Given the description of an element on the screen output the (x, y) to click on. 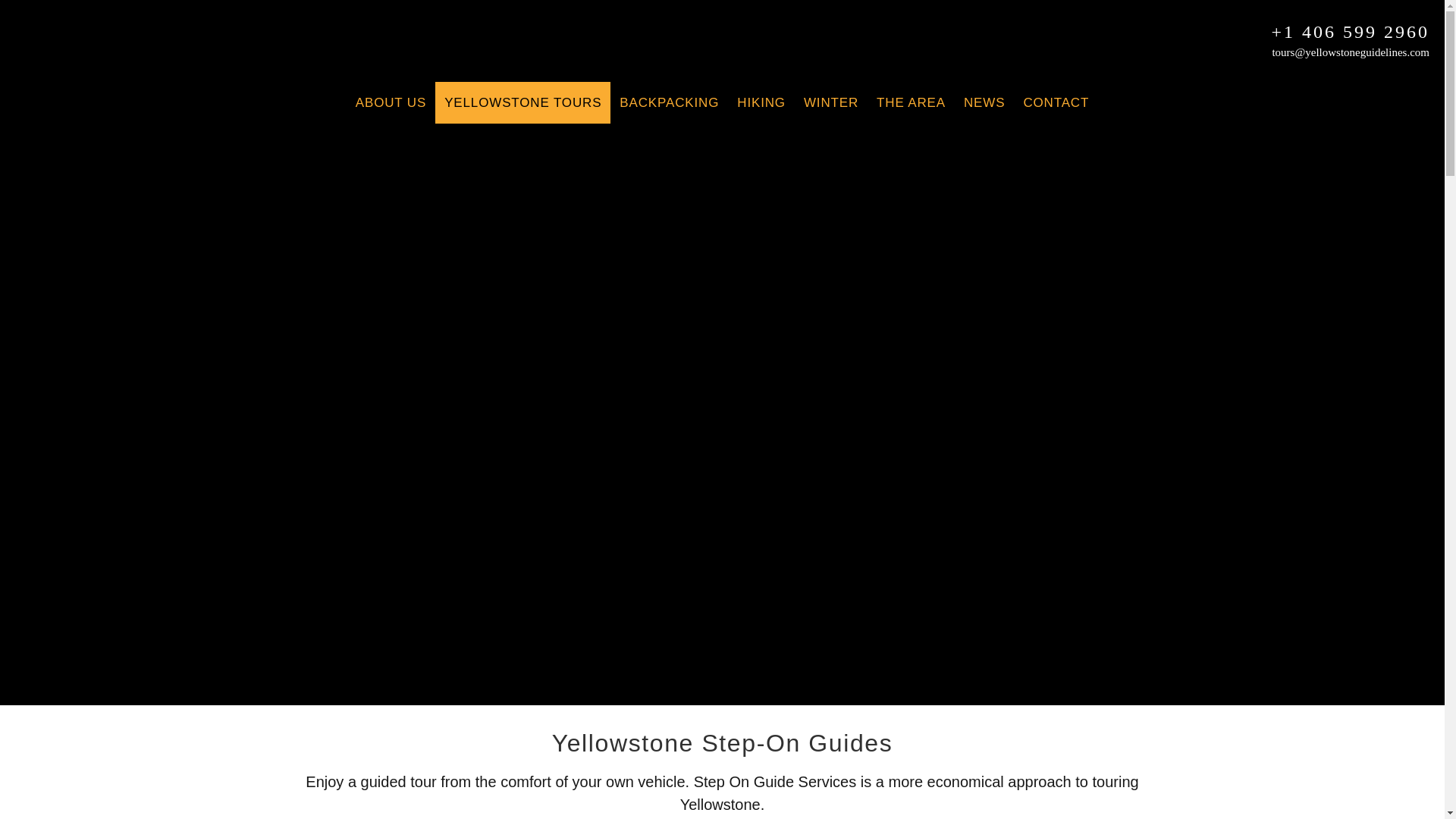
HIKING (761, 102)
YELLOWSTONE TOURS (522, 102)
Yellowstone Guidelines (82, 61)
WINTER (830, 102)
ABOUT US (390, 102)
BACKPACKING (669, 102)
THE AREA (911, 102)
Yellowstone Guidelines  (82, 61)
